Given the description of an element on the screen output the (x, y) to click on. 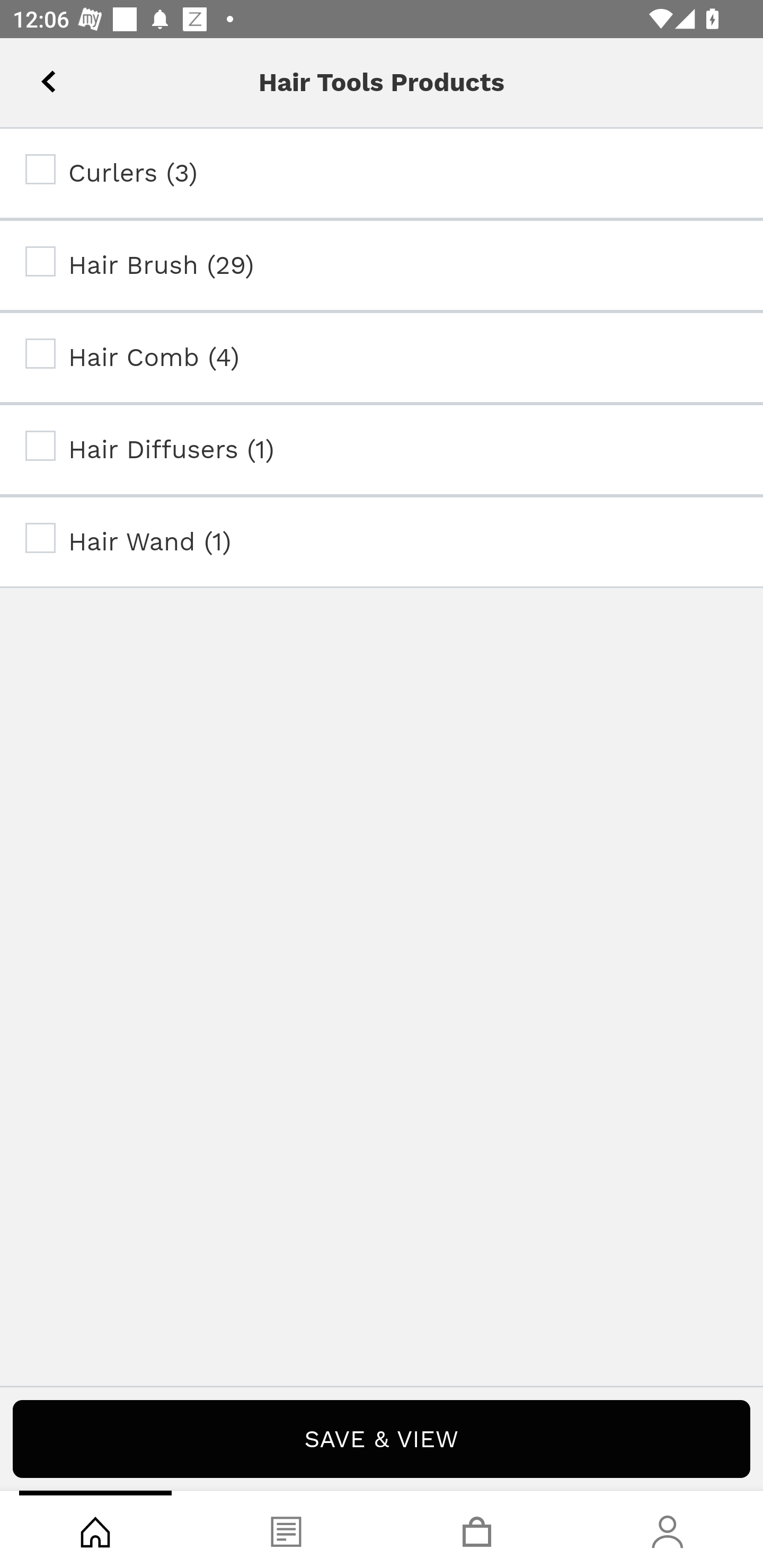
Open Menu (38, 75)
Open search (114, 75)
Lookfantastic USA (381, 75)
FREE US Shipping Over $40 (381, 157)
Shop, tab, 1 of 4 (95, 1529)
Blog, tab, 2 of 4 (285, 1529)
Basket, tab, 3 of 4 (476, 1529)
Account, tab, 4 of 4 (667, 1529)
